Given the description of an element on the screen output the (x, y) to click on. 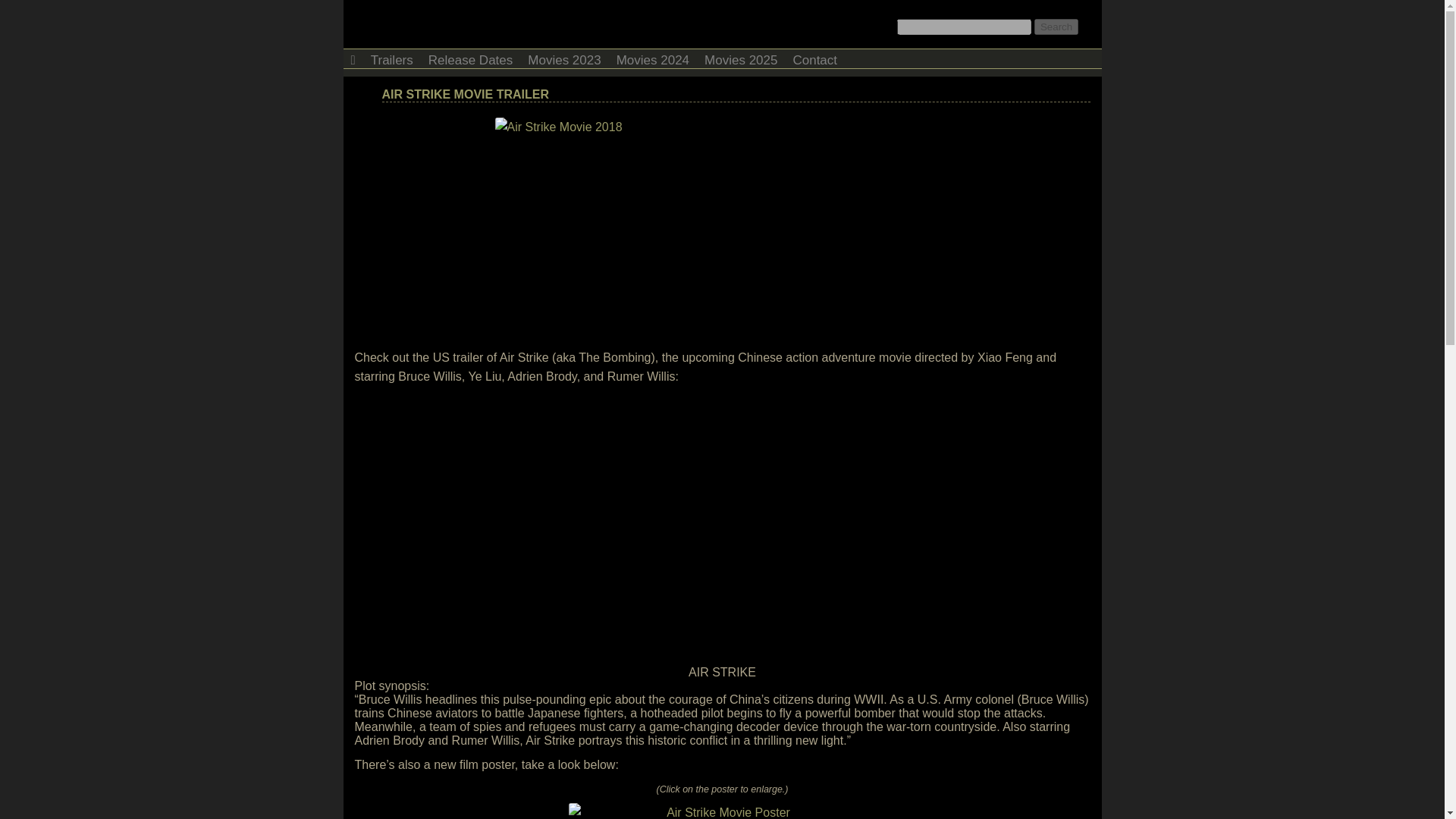
Search (1055, 26)
Movies 2023 (563, 58)
Movies 2025 (740, 58)
AIR STRIKE MOVIE TRAILER (464, 93)
Release Dates (470, 58)
Search (1055, 26)
Home (352, 58)
Contact (814, 58)
Trailers (391, 58)
Movies 2024 (652, 58)
